Given the description of an element on the screen output the (x, y) to click on. 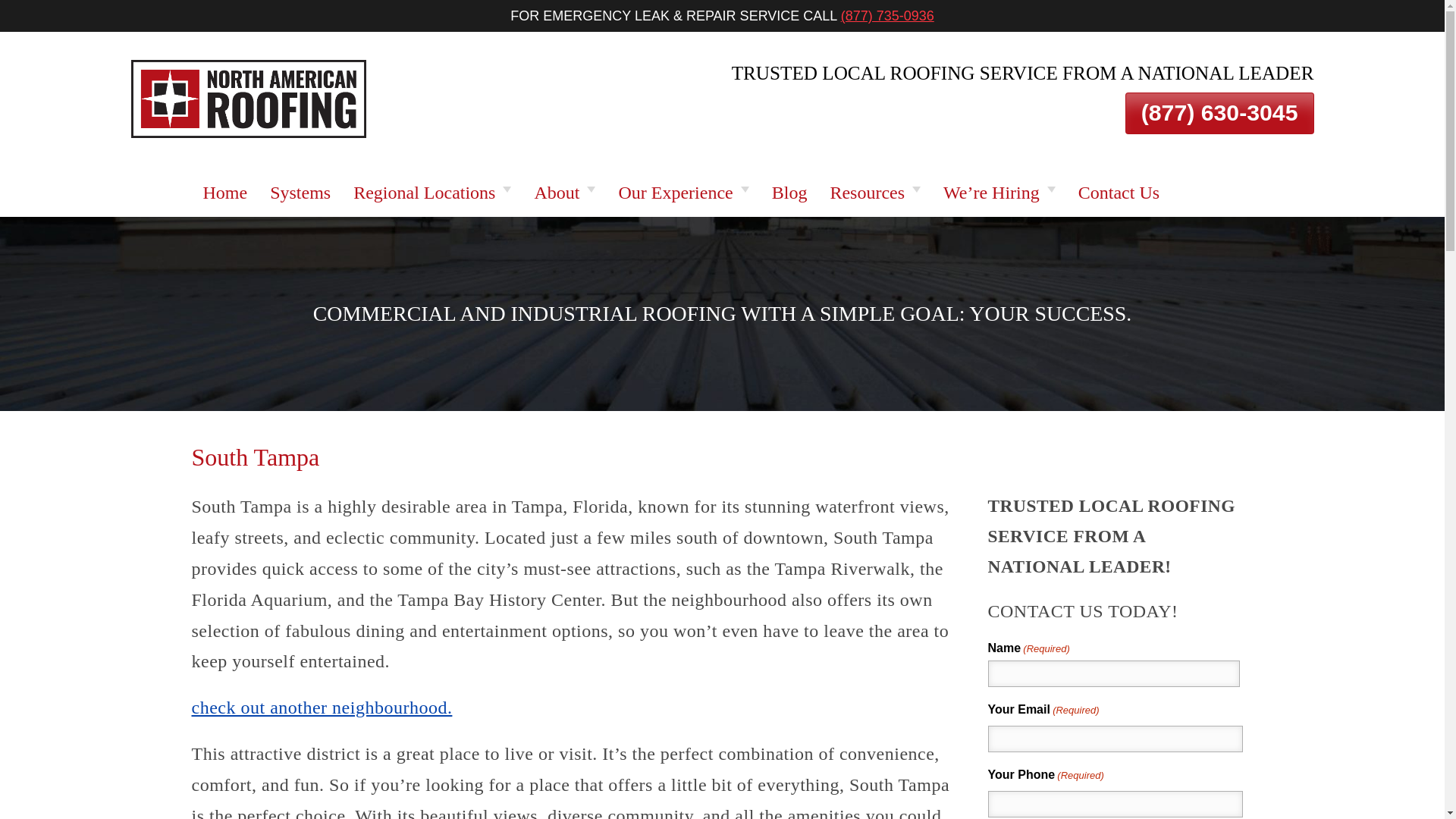
Systems (300, 192)
Home (224, 192)
Regional Locations (432, 192)
